Given the description of an element on the screen output the (x, y) to click on. 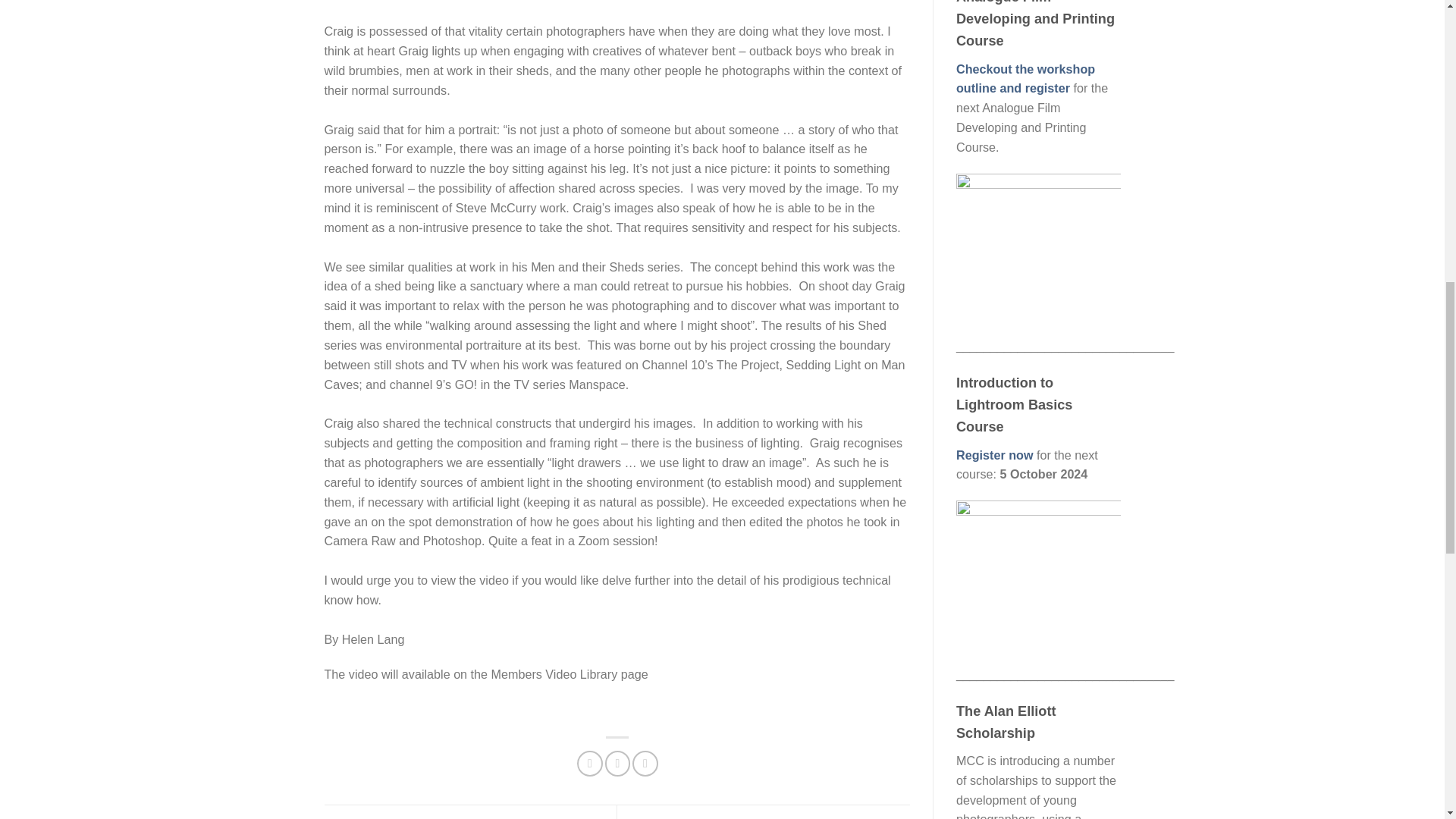
Share on Facebook (589, 763)
Share on Twitter (617, 763)
Email to a Friend (644, 763)
